Given the description of an element on the screen output the (x, y) to click on. 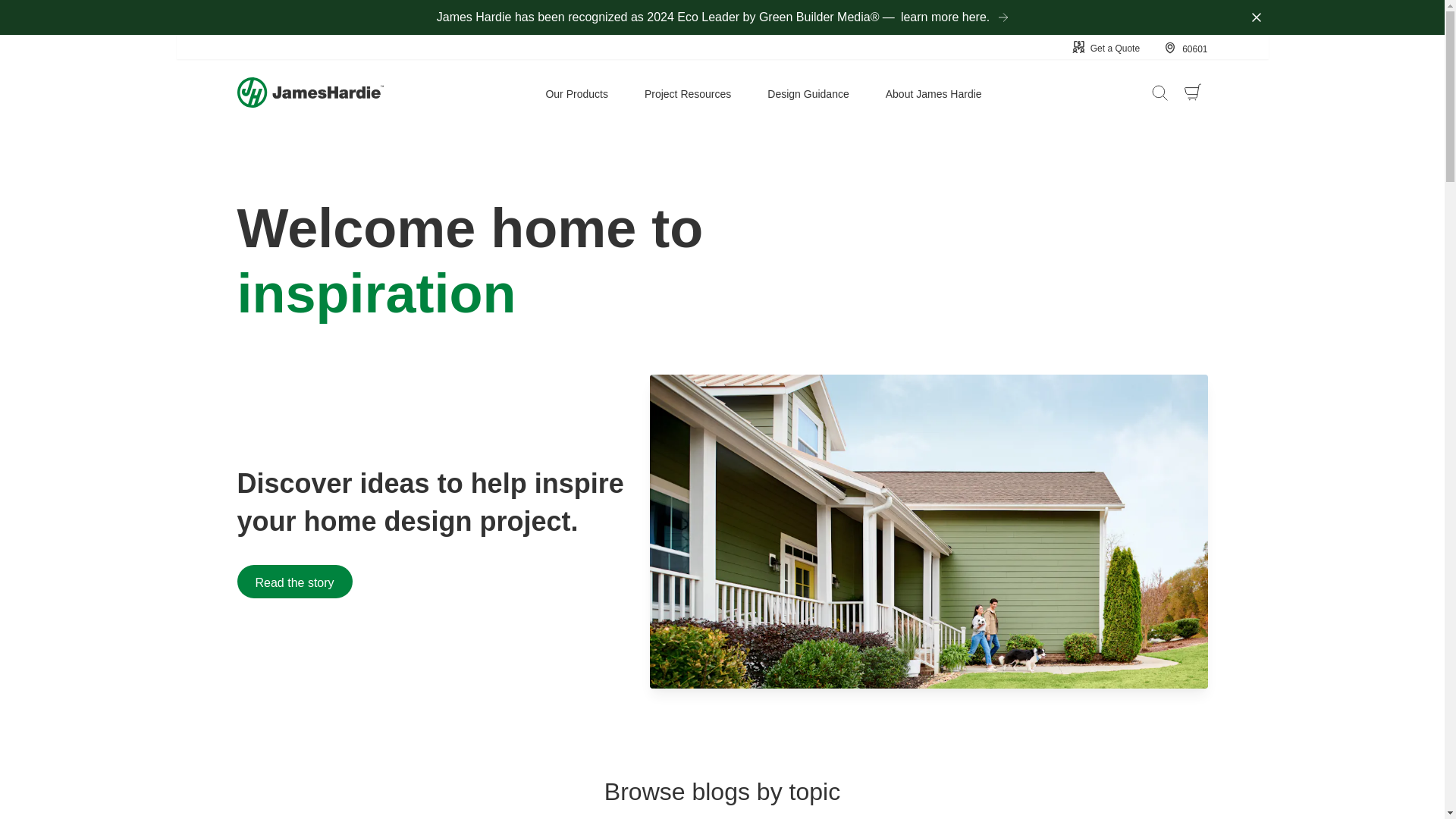
Our Products (575, 91)
Get a Quote (1105, 46)
Project Resources (686, 91)
learn more here. (949, 17)
60601 (1185, 47)
